Given the description of an element on the screen output the (x, y) to click on. 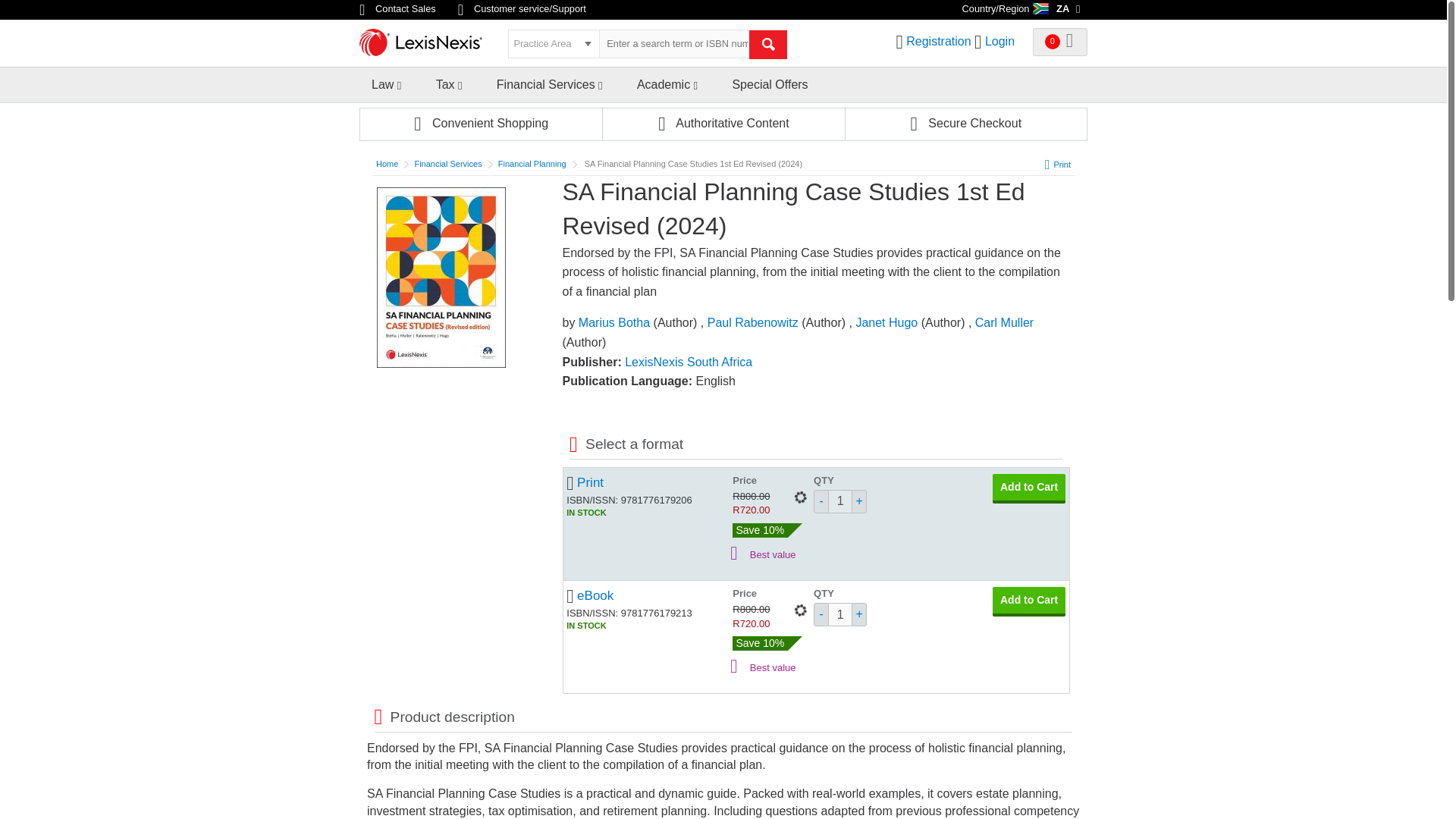
Login (999, 41)
Contact Sales (398, 8)
0 (1059, 41)
Registration (938, 41)
Law (382, 83)
Search (768, 44)
Search (768, 44)
1 (839, 614)
1 (839, 501)
